Given the description of an element on the screen output the (x, y) to click on. 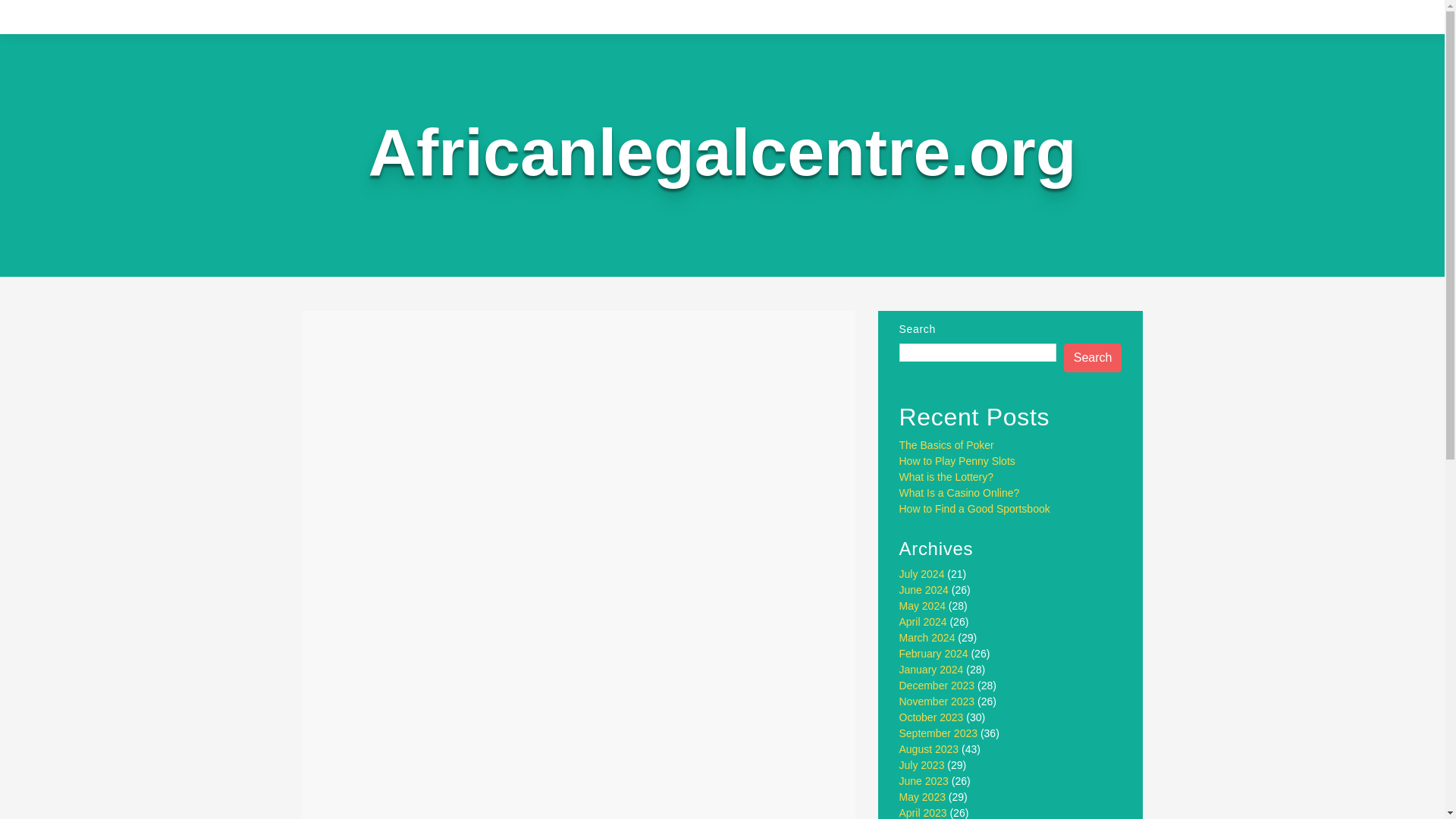
June 2024 (924, 589)
What is the Lottery? (946, 476)
August 2023 (929, 748)
How to Find a Good Sportsbook (974, 508)
September 2023 (938, 733)
May 2024 (921, 605)
December 2023 (937, 685)
January 2024 (931, 669)
April 2024 (923, 621)
July 2024 (921, 573)
